Given the description of an element on the screen output the (x, y) to click on. 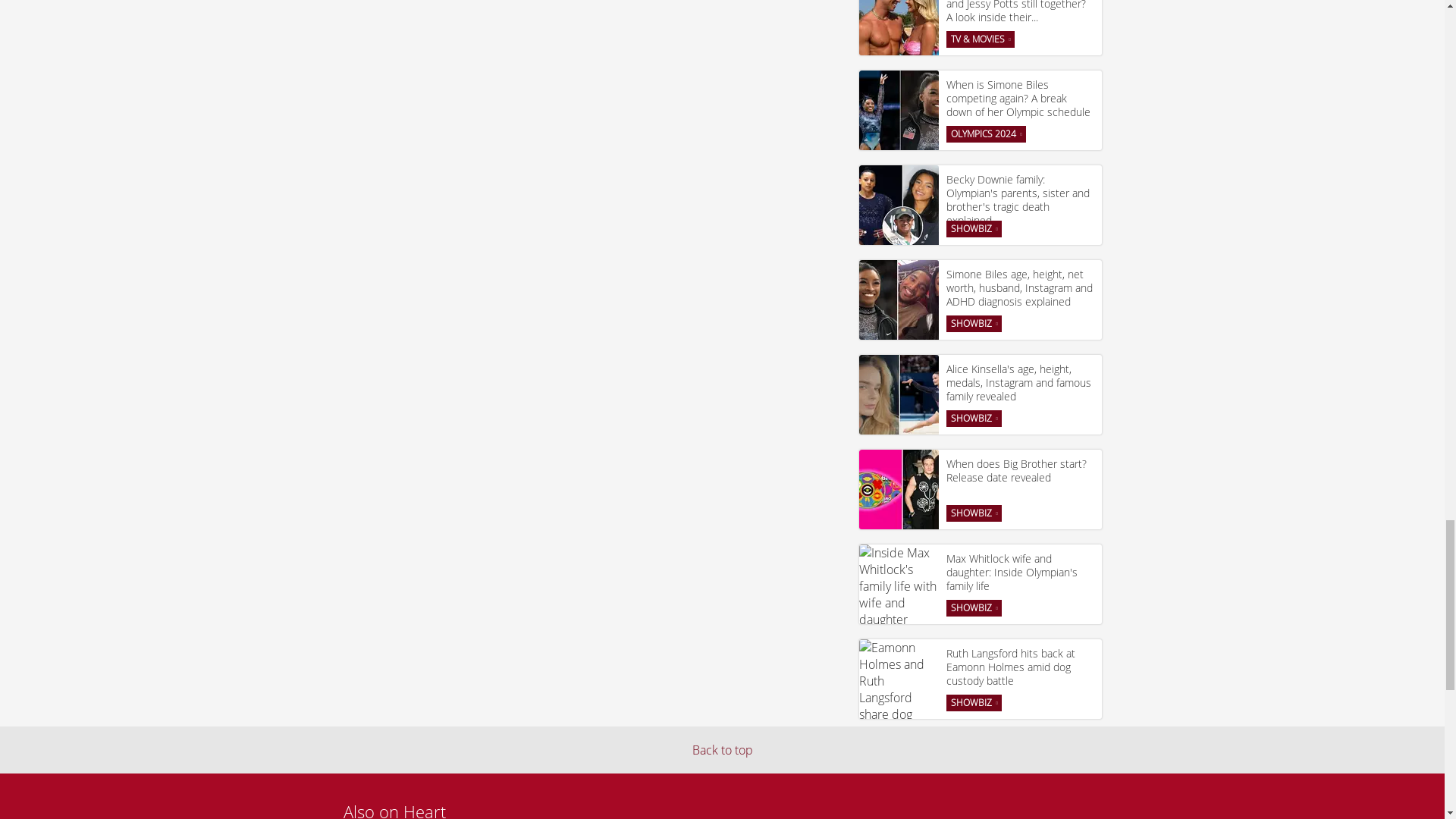
Back to top (721, 750)
